Given the description of an element on the screen output the (x, y) to click on. 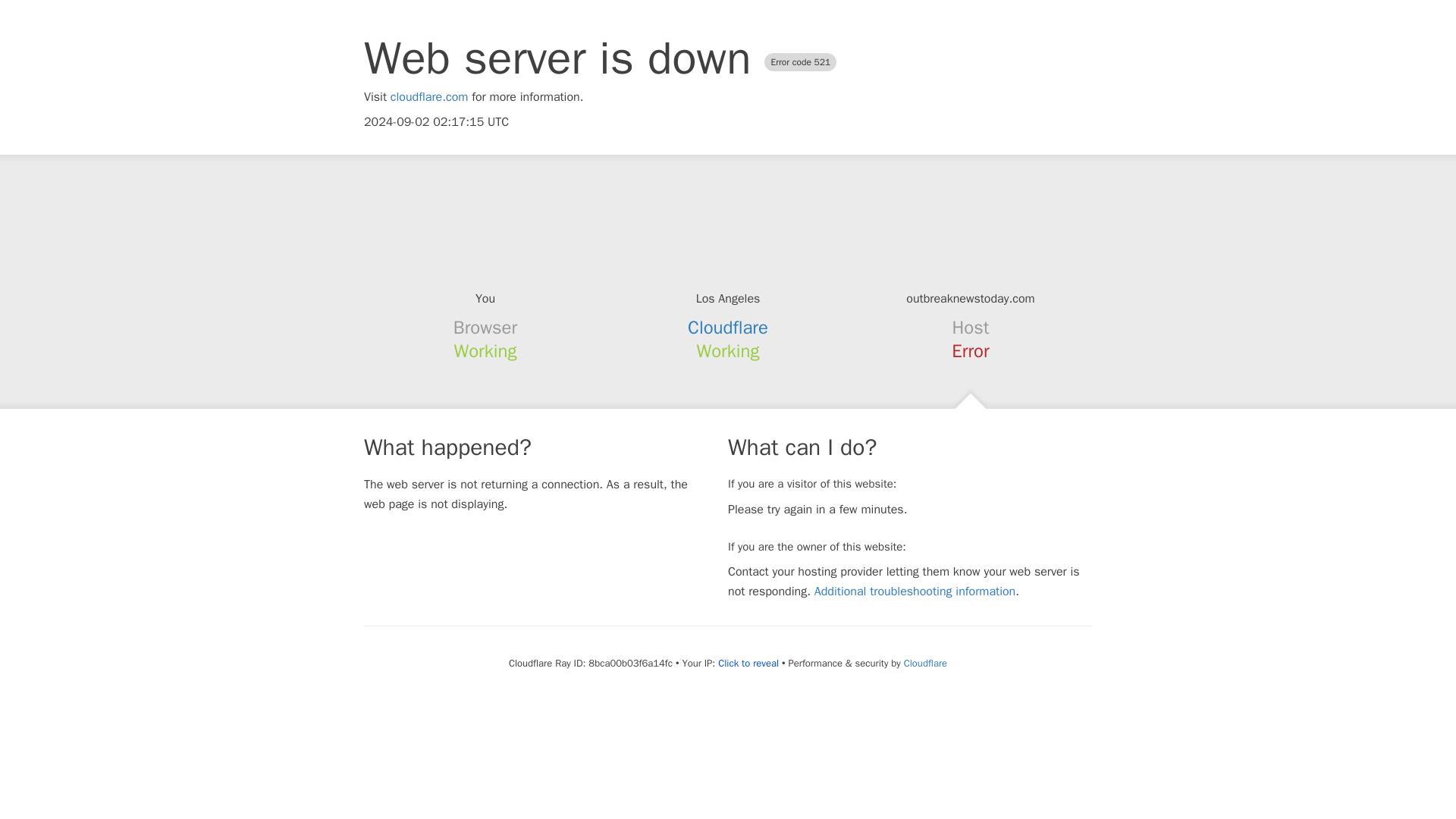
cloudflare.com (429, 96)
Cloudflare (925, 662)
Cloudflare (727, 327)
Click to reveal (747, 663)
Additional troubleshooting information (913, 590)
